Given the description of an element on the screen output the (x, y) to click on. 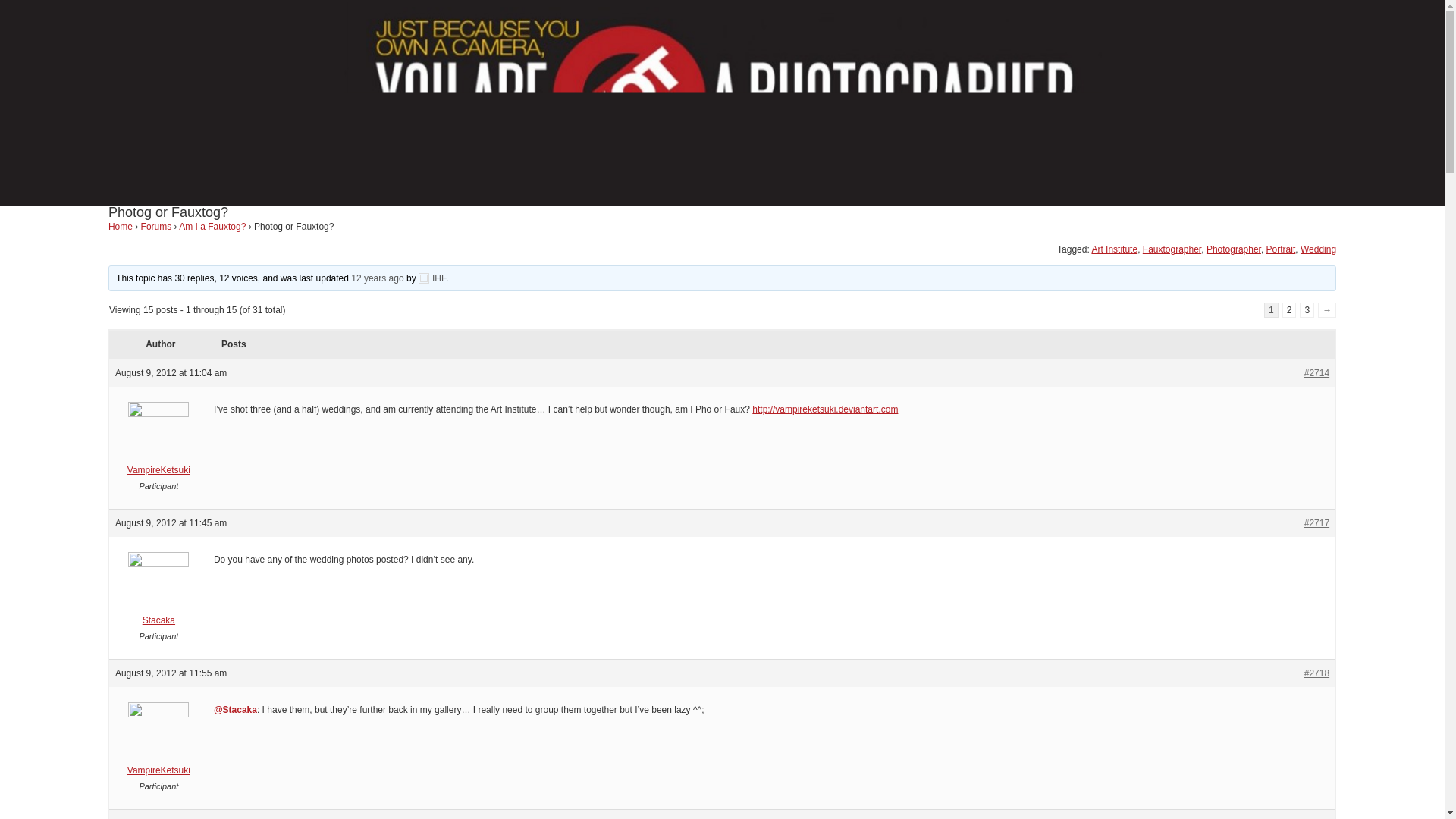
Forums (156, 226)
Wedding (1318, 249)
You Are Not A Photographer (721, 196)
Fauxtographer (1171, 249)
3 (1307, 309)
View VampireKetsuki's profile (158, 743)
Art Institute (1113, 249)
VampireKetsuki (158, 743)
12 years ago (376, 277)
VampireKetsuki (158, 442)
